Given the description of an element on the screen output the (x, y) to click on. 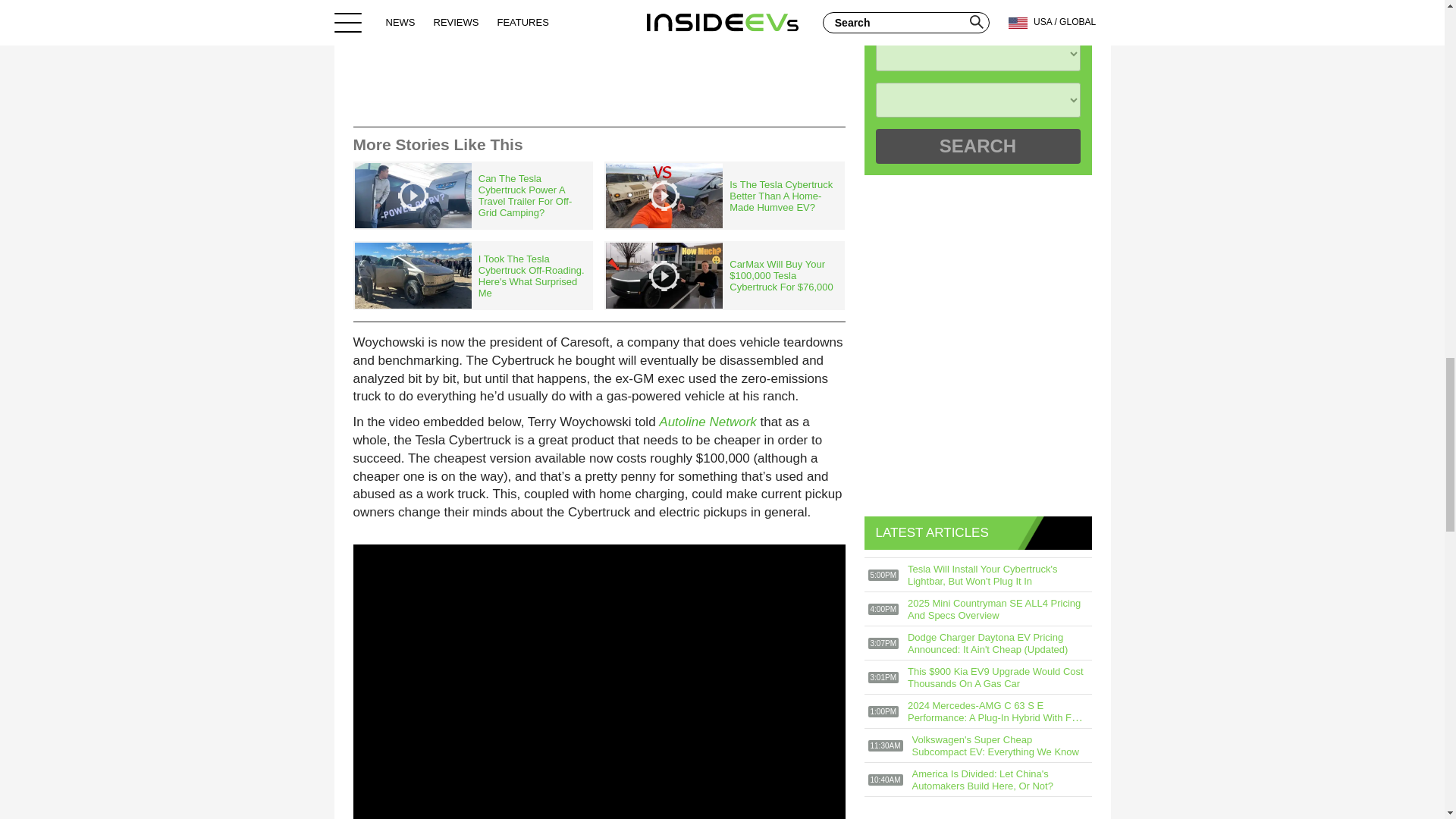
Is The Tesla Cybertruck Better Than A Home-Made Humvee EV? (724, 195)
Autoline Network (708, 421)
Search (977, 145)
